Given the description of an element on the screen output the (x, y) to click on. 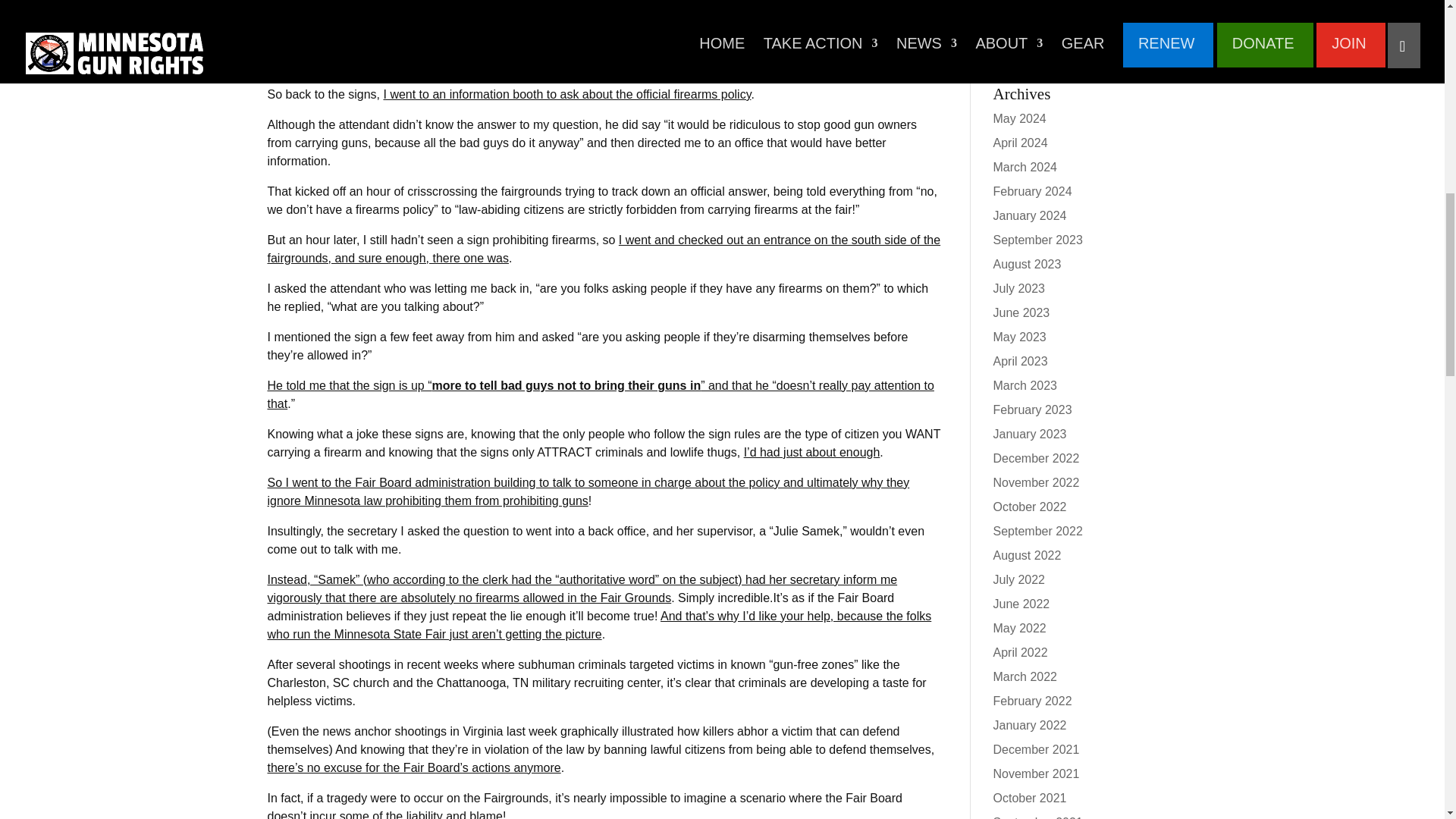
State Legislation (1037, 38)
Uncategorized (1031, 62)
Latest News (1025, 14)
May 2024 (1019, 118)
